Given the description of an element on the screen output the (x, y) to click on. 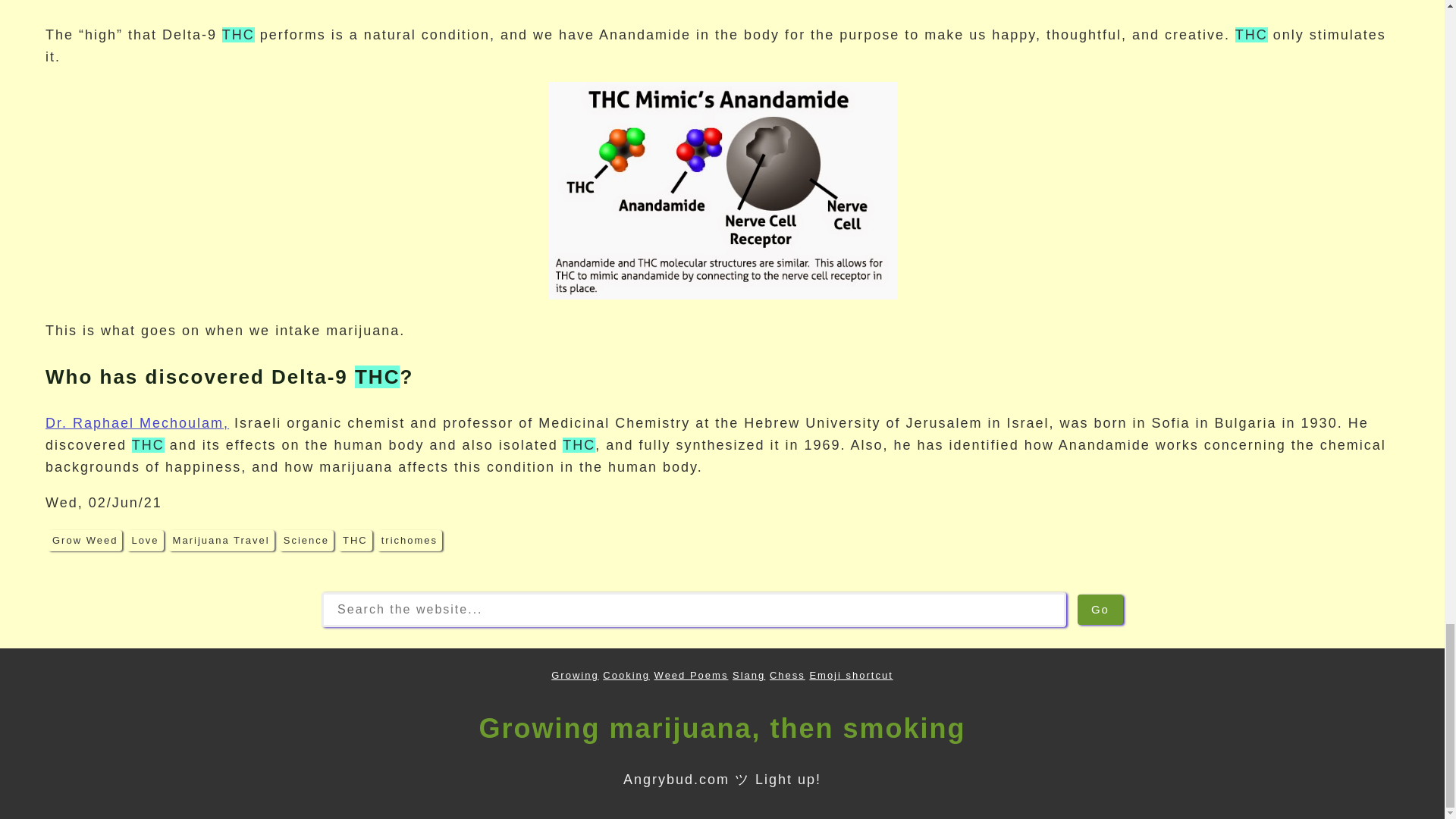
Go (1099, 609)
Science (306, 540)
Growing (574, 674)
Chess (787, 674)
Grow Weed (85, 540)
Weed Poems (691, 674)
THC (354, 540)
Dr. Raphael Mechoulam, (136, 422)
trichomes (409, 540)
Slang (748, 674)
